Given the description of an element on the screen output the (x, y) to click on. 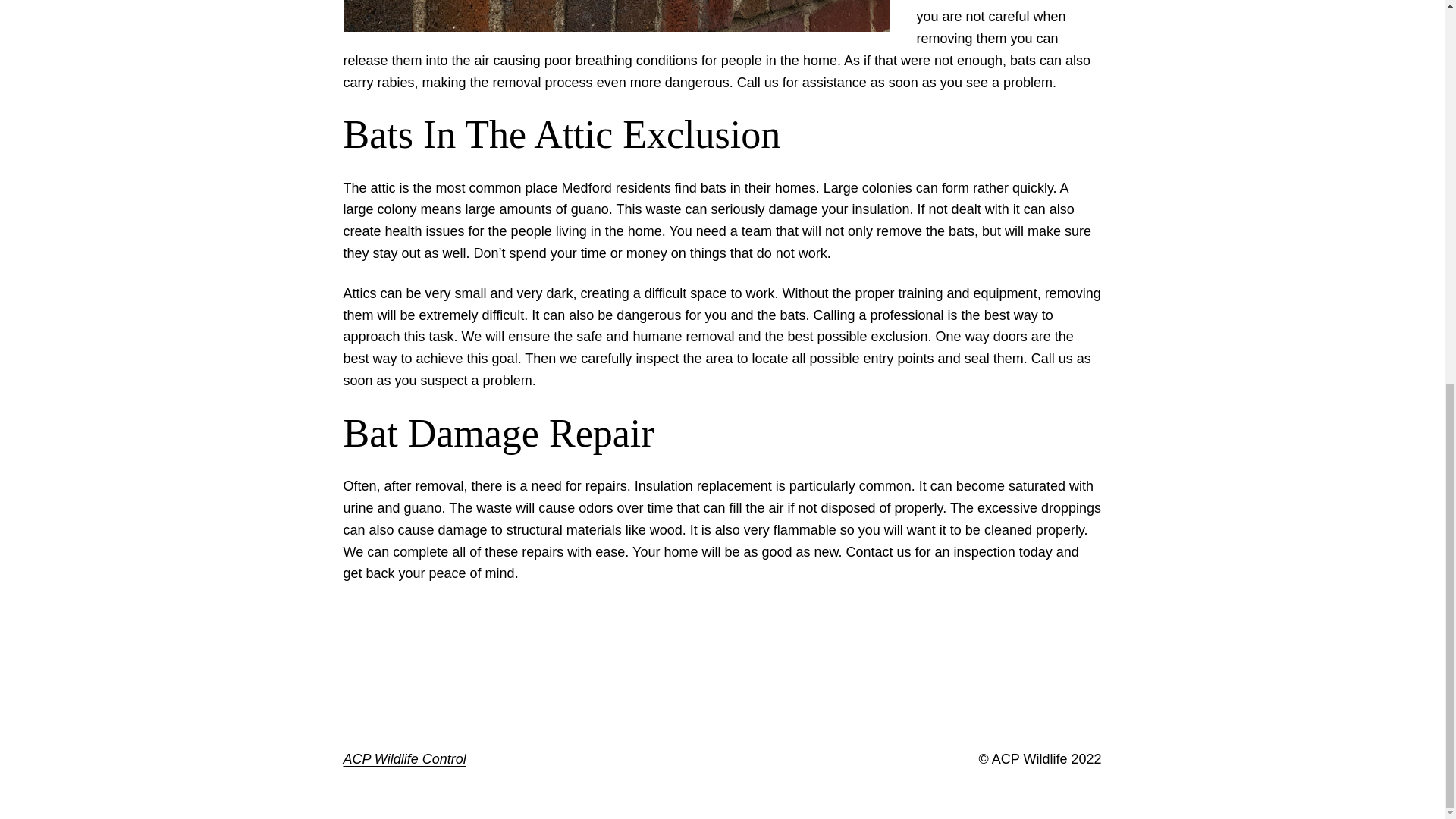
ACP Wildlife Control (403, 758)
